Given the description of an element on the screen output the (x, y) to click on. 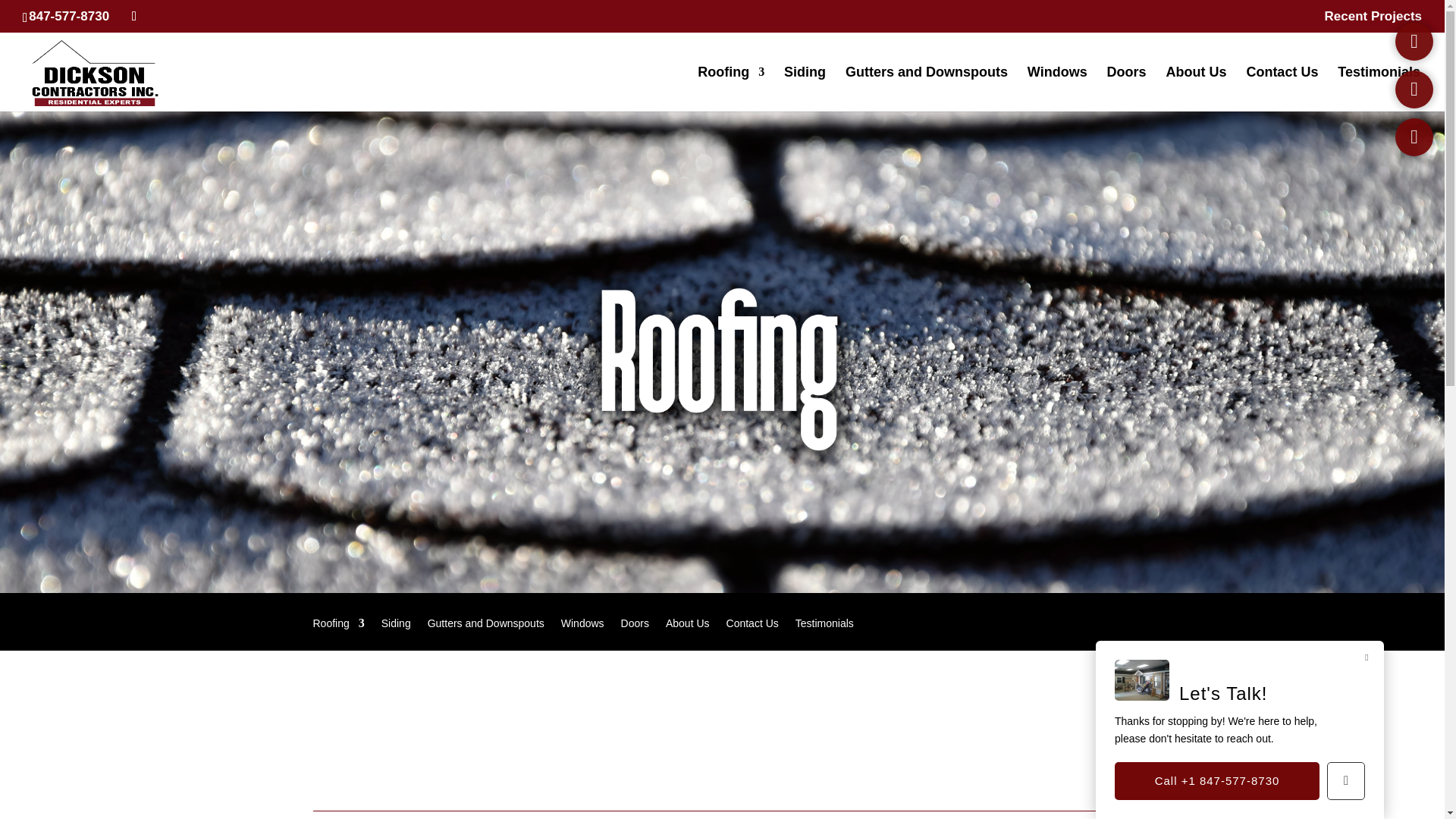
Contact Us (1281, 88)
Siding (804, 88)
Windows (1057, 88)
Gutters and Downspouts (926, 88)
Testimonials (1379, 88)
Roofing (338, 633)
Recent Projects (1372, 20)
About Us (1196, 88)
Roofing (730, 88)
